Given the description of an element on the screen output the (x, y) to click on. 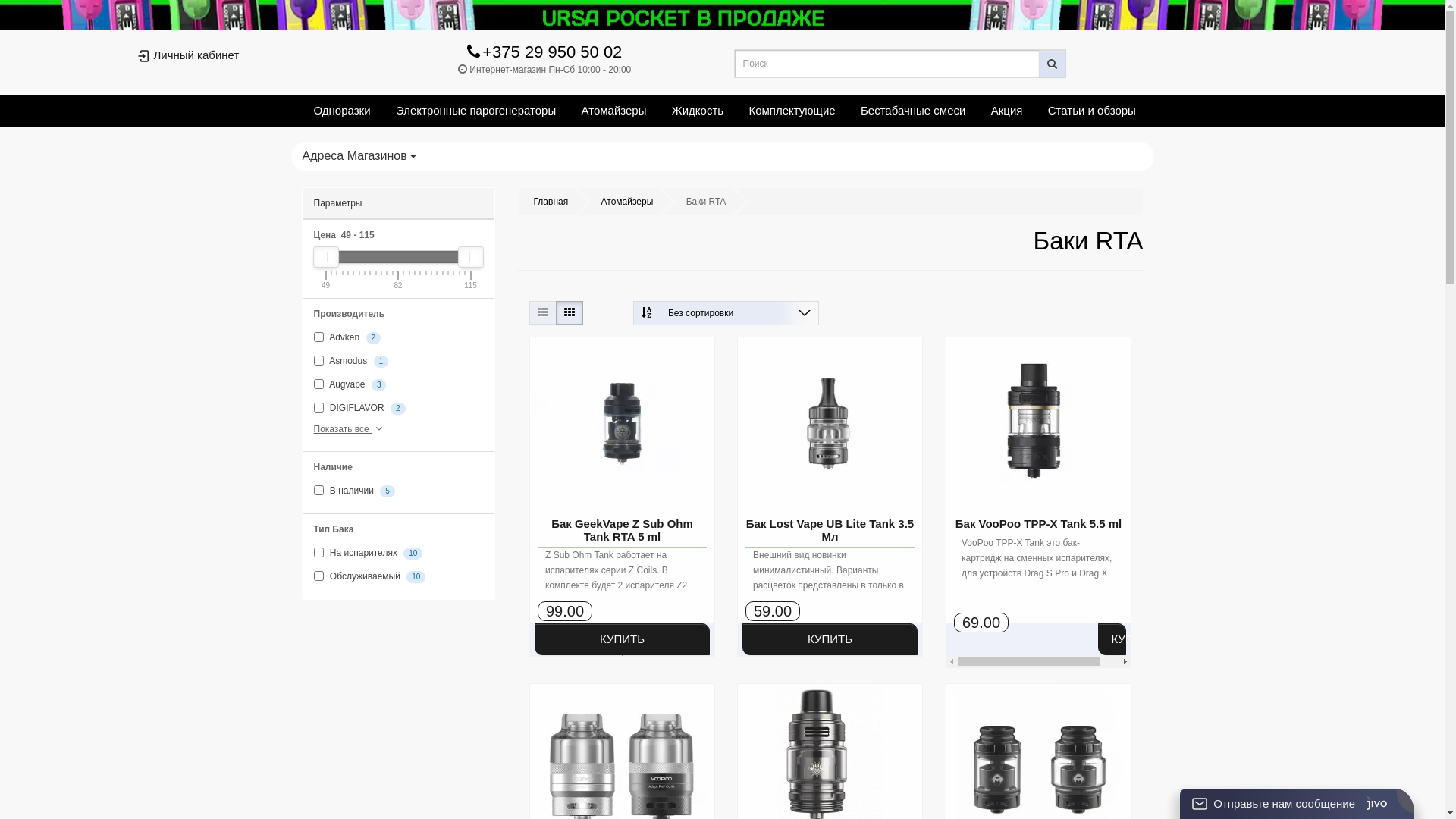
+375 29 950 50 02 Element type: text (544, 54)
